Given the description of an element on the screen output the (x, y) to click on. 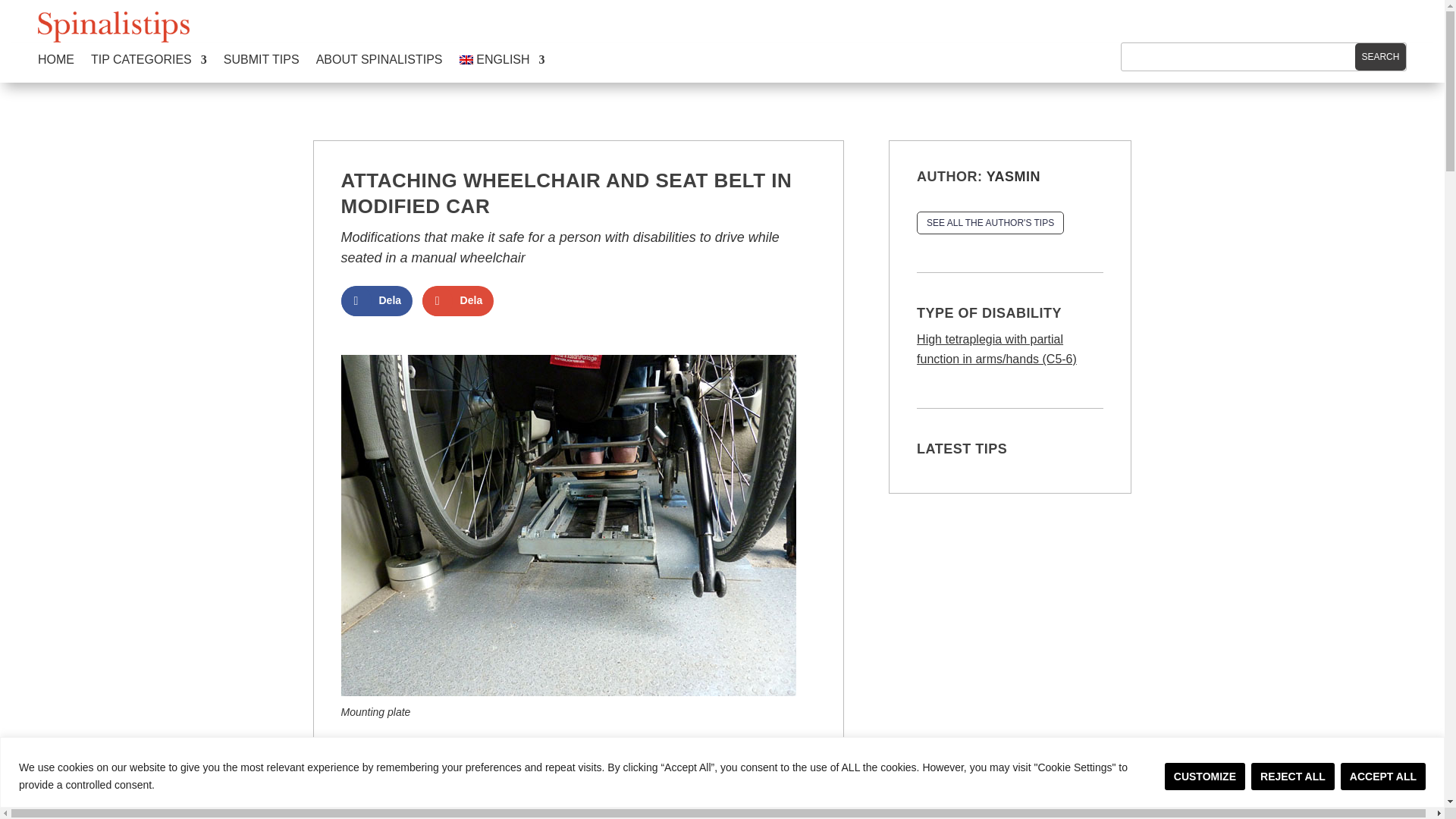
HOME (55, 62)
TIP CATEGORIES (148, 62)
English (502, 62)
REJECT ALL (1292, 776)
ACCEPT ALL (1382, 776)
Search (1380, 56)
Search (1380, 56)
spinalistips-logo-0 (113, 26)
SUBMIT TIPS (261, 62)
ABOUT SPINALISTIPS (378, 62)
CUSTOMIZE (1204, 776)
ENGLISH (502, 62)
